Given the description of an element on the screen output the (x, y) to click on. 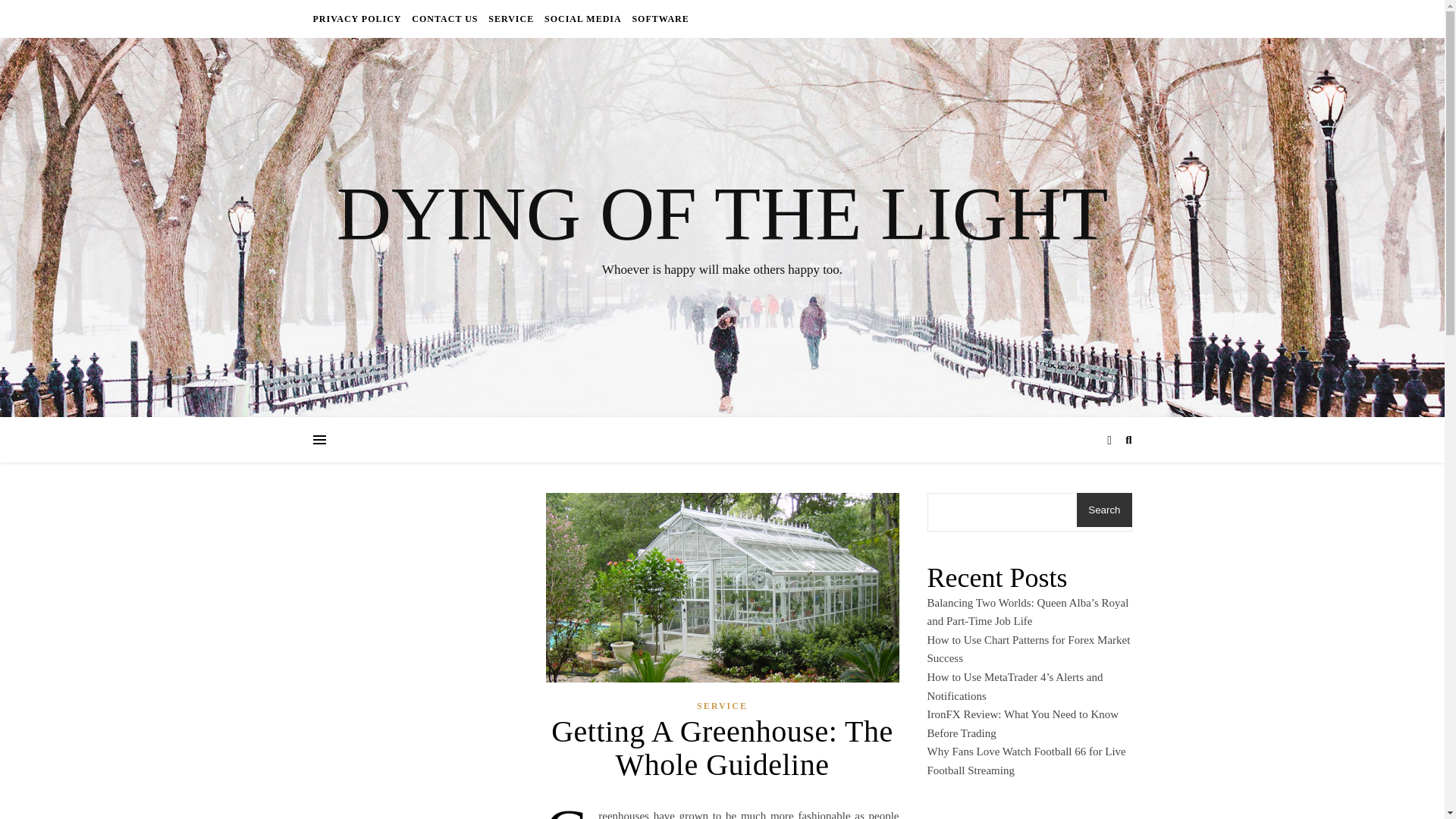
PRIVACY POLICY (358, 18)
How to Use Chart Patterns for Forex Market Success (1027, 649)
CONTACT US (444, 18)
SOFTWARE (657, 18)
SERVICE (722, 705)
Why Fans Love Watch Football 66 for Live Football Streaming (1025, 760)
SOCIAL MEDIA (583, 18)
Search (1104, 510)
IronFX Review: What You Need to Know Before Trading (1022, 723)
SERVICE (510, 18)
